Given the description of an element on the screen output the (x, y) to click on. 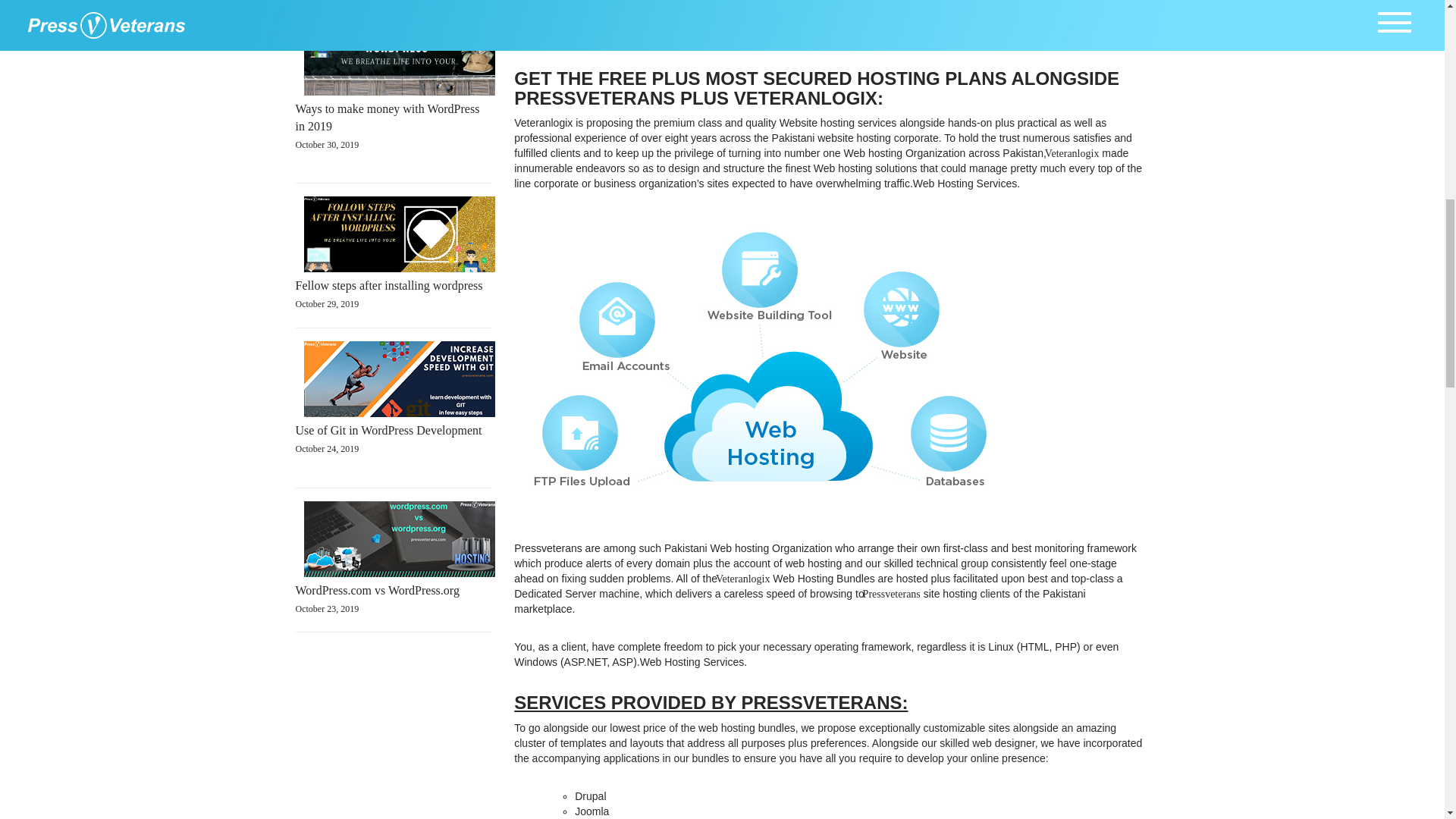
Veteranlogix (395, 412)
Veteranlogix (1072, 153)
Pressveterans (395, 99)
